Given the description of an element on the screen output the (x, y) to click on. 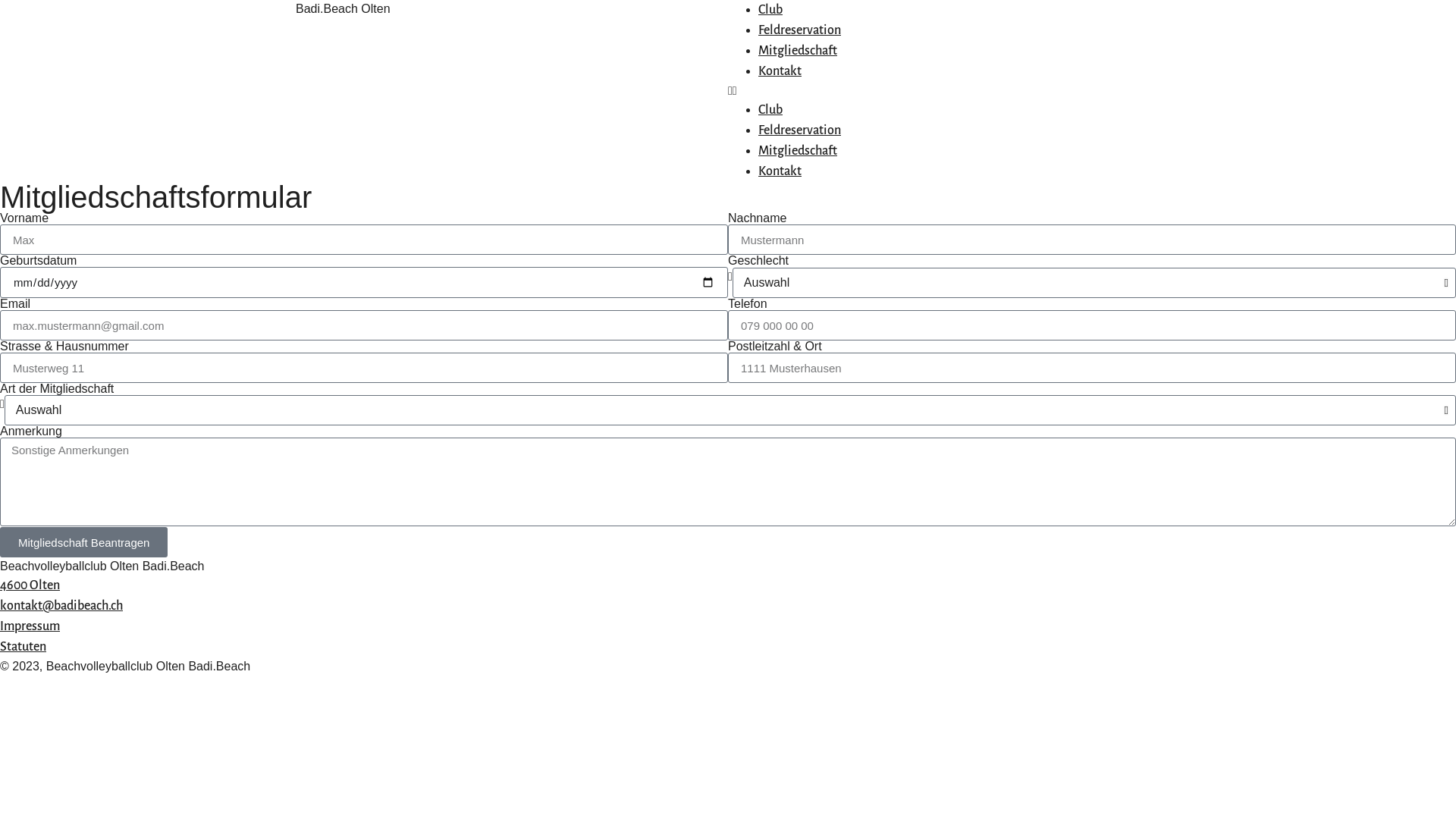
Kontakt Element type: text (779, 171)
Feldreservation Element type: text (799, 130)
Club Element type: text (770, 109)
kontakt@badibeach.ch Element type: text (61, 605)
Kontakt Element type: text (779, 71)
Impressum Element type: text (29, 626)
Mitgliedschaft Element type: text (797, 150)
Mitgliedschaft Beantragen Element type: text (83, 542)
Mitgliedschaft Element type: text (797, 50)
Statuten Element type: text (23, 646)
Feldreservation Element type: text (799, 30)
4600 Olten Element type: text (29, 585)
Club Element type: text (770, 9)
